Given the description of an element on the screen output the (x, y) to click on. 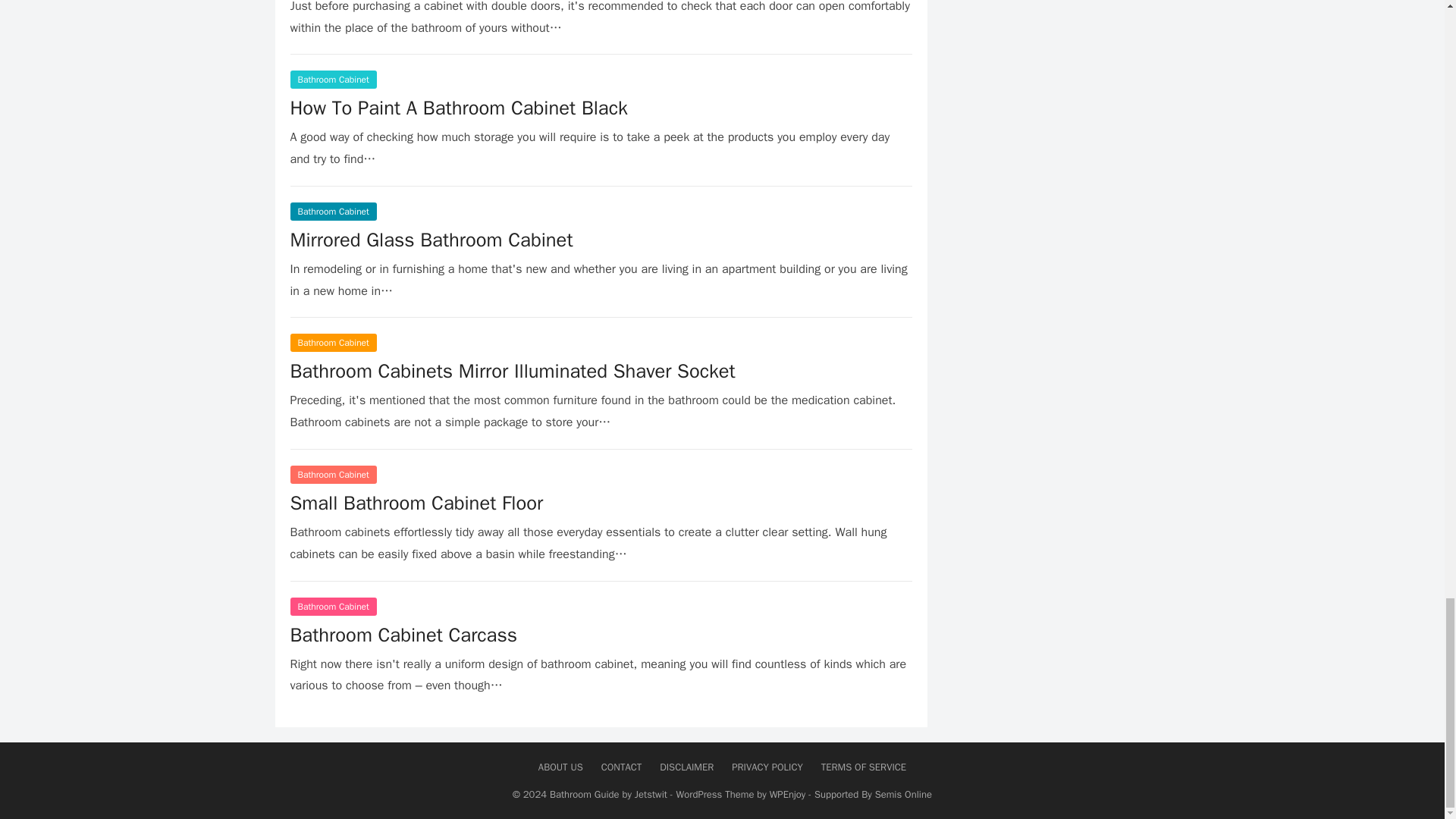
Bathroom Cabinet (332, 79)
How To Paint A Bathroom Cabinet Black (458, 107)
Bathroom Cabinet (332, 475)
Bathroom Cabinets Mirror Illuminated Shaver Socket (512, 371)
Bathroom Cabinet (332, 211)
Bathroom Cabinet (332, 342)
Bathroom Cabinet (332, 606)
Mirrored Glass Bathroom Cabinet (430, 239)
Small Bathroom Cabinet Floor (416, 502)
Bathroom Cabinet Carcass (402, 634)
